Given the description of an element on the screen output the (x, y) to click on. 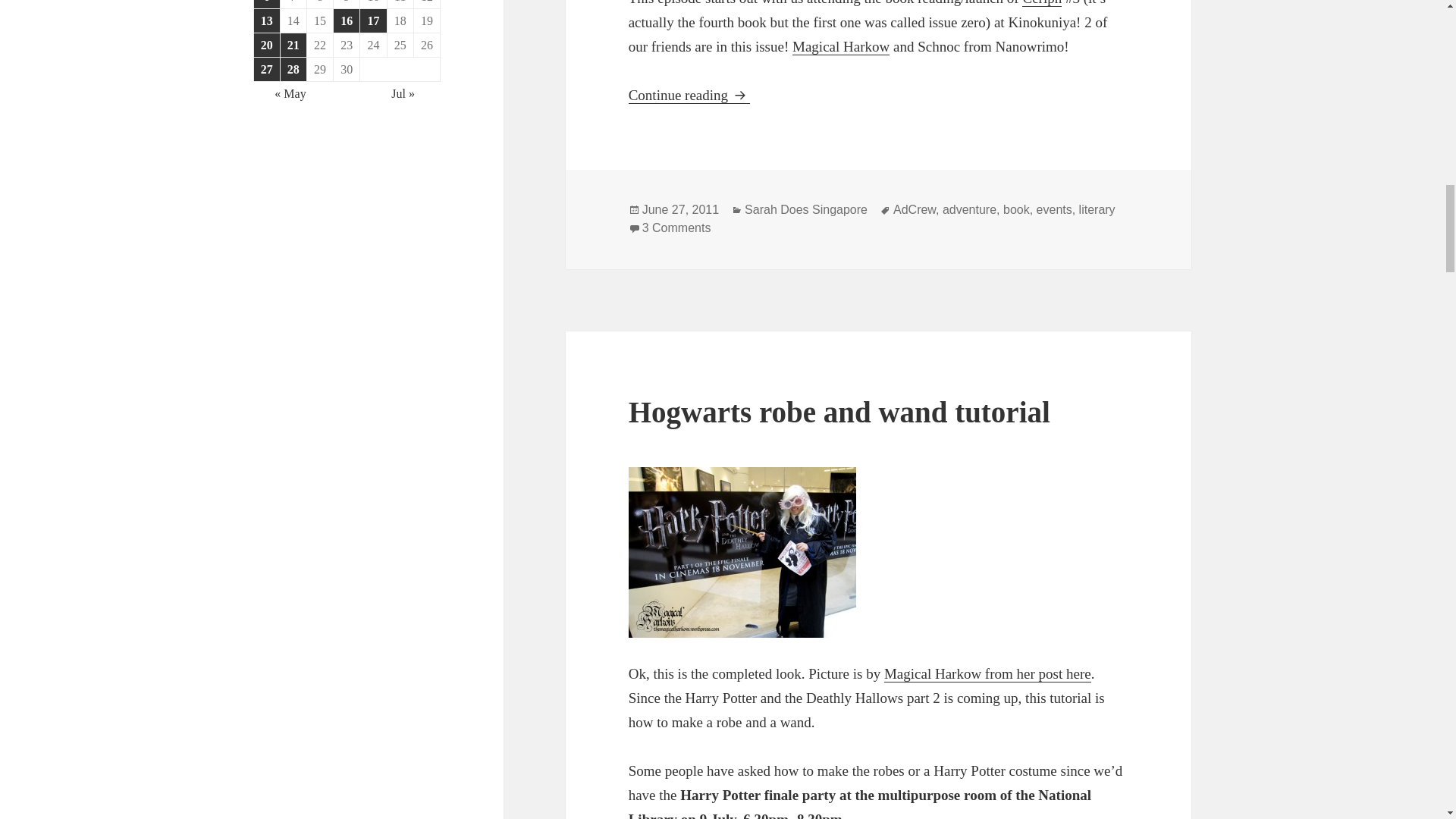
13 (266, 20)
16 (346, 20)
17 (372, 20)
So here's the completed look! (742, 552)
6 (266, 4)
